Given the description of an element on the screen output the (x, y) to click on. 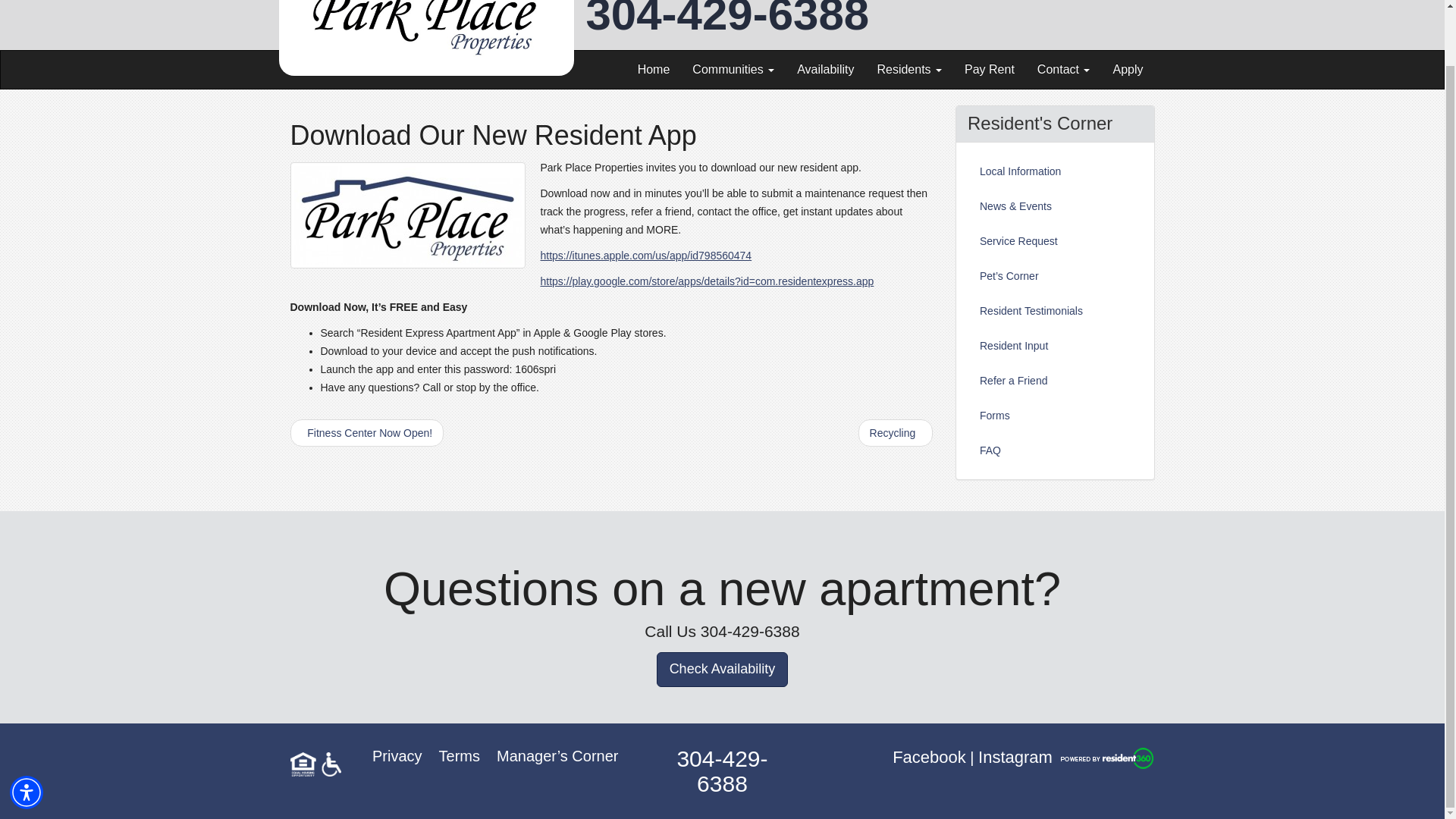
  Fitness Center Now Open! (366, 432)
Local Information (1054, 171)
Availability (825, 69)
Availability (825, 69)
Pay Rent (989, 69)
Accessibility Menu (26, 731)
Communities (733, 69)
Communities (733, 69)
Resident Testimonials (1054, 310)
Home (653, 69)
Home (653, 69)
Residents (908, 69)
Contact (1064, 69)
Apply (1127, 69)
Resident Input (1054, 345)
